Given the description of an element on the screen output the (x, y) to click on. 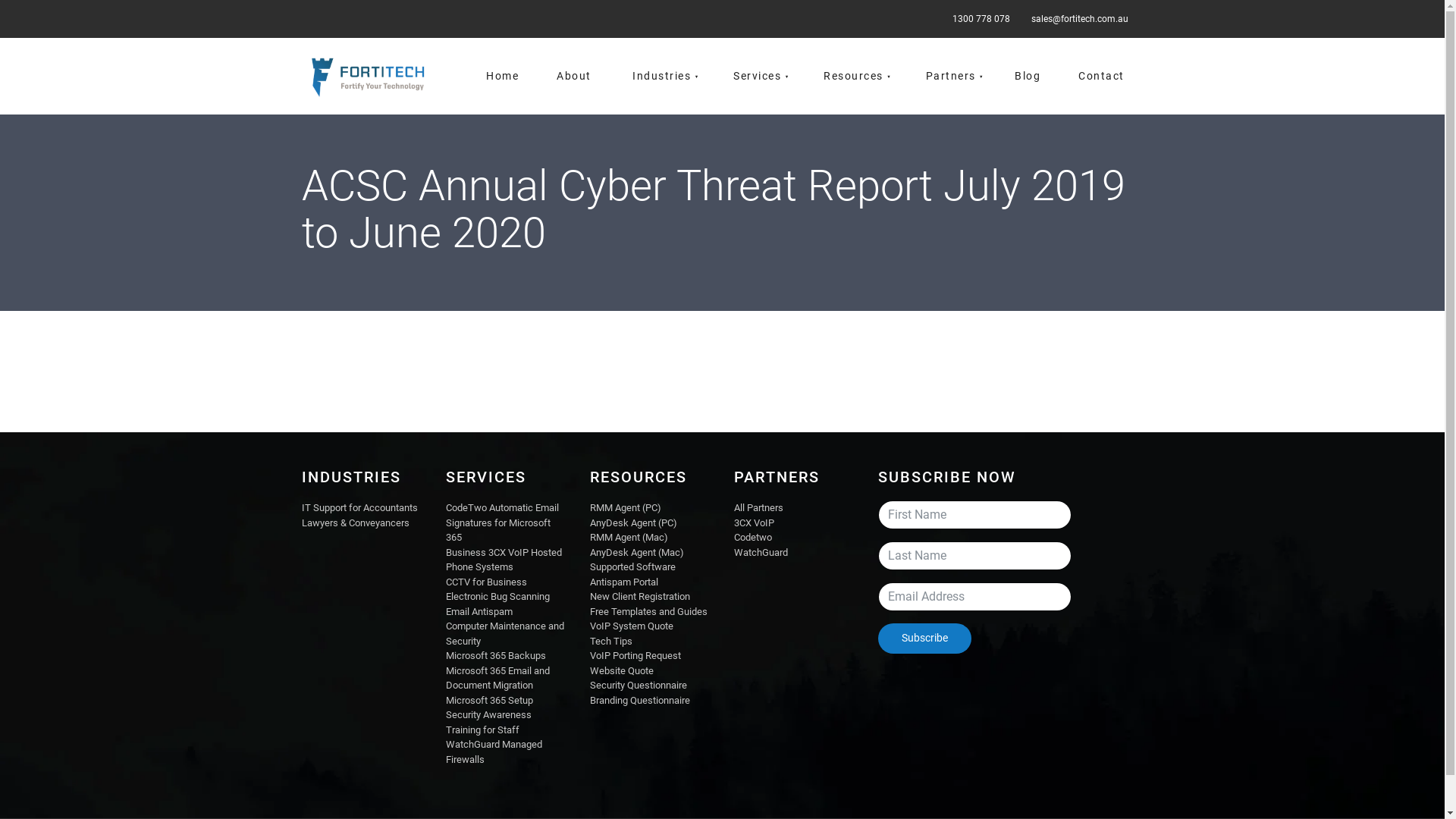
3CX VoIP Element type: text (754, 522)
About Element type: text (573, 75)
Subscribe Element type: text (924, 638)
Services Element type: text (756, 75)
Blog Element type: text (1027, 75)
Antispam Portal Element type: text (623, 581)
WatchGuard Managed Firewalls Element type: text (493, 751)
VoIP Porting Request Element type: text (634, 655)
sales@fortitech.com.au Element type: text (1076, 18)
All Partners Element type: text (758, 507)
CCTV for Business Element type: text (486, 581)
AnyDesk Agent (Mac) Element type: text (636, 552)
Microsoft 365 Backups Element type: text (495, 655)
AnyDesk Agent (PC) Element type: text (633, 522)
Security Questionnaire Element type: text (638, 684)
Branding Questionnaire Element type: text (639, 700)
Industries Element type: text (660, 75)
VoIP System Quote Element type: text (631, 625)
Security Awareness Training for Staff Element type: text (488, 722)
Free Templates and Guides Element type: text (648, 611)
New Client Registration Element type: text (639, 596)
Home Element type: text (502, 75)
Partners Element type: text (949, 75)
CodeTwo Automatic Email Signatures for Microsoft 365 Element type: text (501, 522)
Email Antispam Element type: text (478, 611)
Lawyers & Conveyancers Element type: text (355, 522)
Business 3CX VoIP Hosted Phone Systems Element type: text (503, 559)
RMM Agent (Mac) Element type: text (628, 536)
IT Support for Accountants Element type: text (359, 507)
Website Quote Element type: text (621, 670)
Codetwo Element type: text (752, 536)
Tech Tips Element type: text (610, 640)
RMM Agent (PC) Element type: text (625, 507)
Contact Element type: text (1101, 75)
Computer Maintenance and Security Element type: text (504, 633)
Microsoft 365 Setup Element type: text (489, 700)
Electronic Bug Scanning Element type: text (497, 596)
1300 778 078 Element type: text (978, 18)
Resources Element type: text (852, 75)
Supported Software Element type: text (632, 566)
Microsoft 365 Email and Document Migration Element type: text (497, 678)
WatchGuard Element type: text (760, 552)
